Given the description of an element on the screen output the (x, y) to click on. 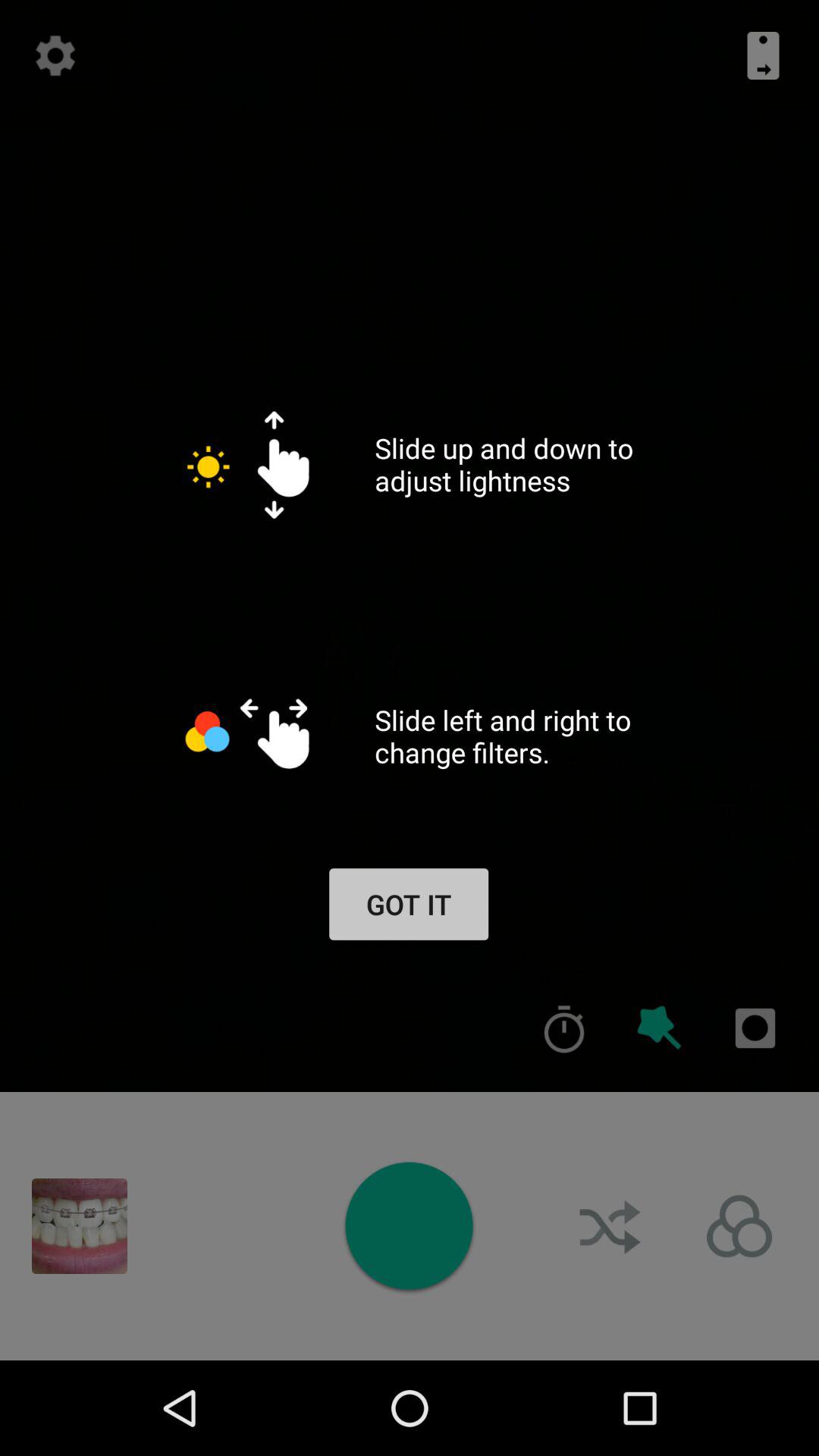
shuffle play (611, 1226)
